Given the description of an element on the screen output the (x, y) to click on. 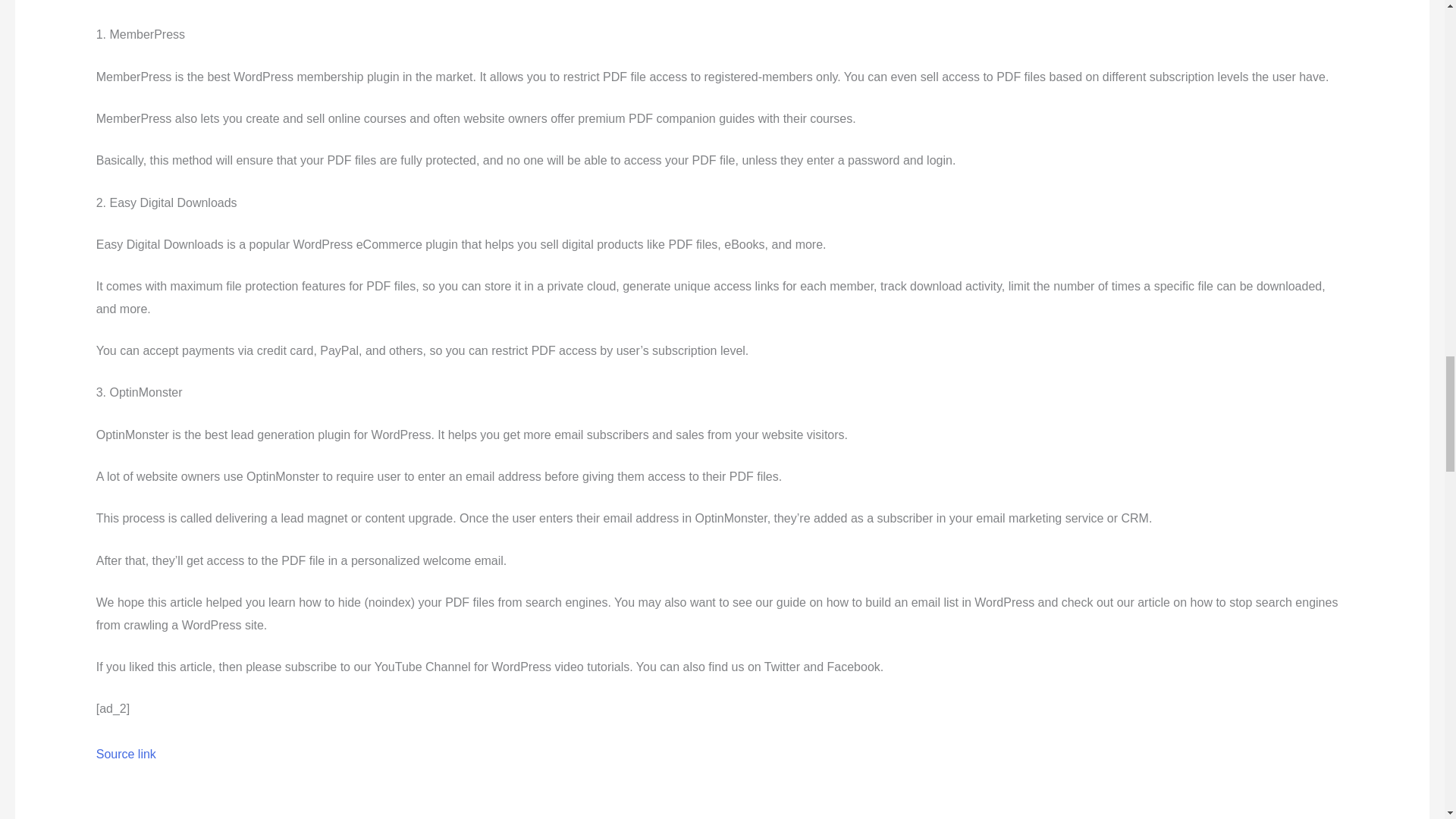
Source link (125, 753)
